Given the description of an element on the screen output the (x, y) to click on. 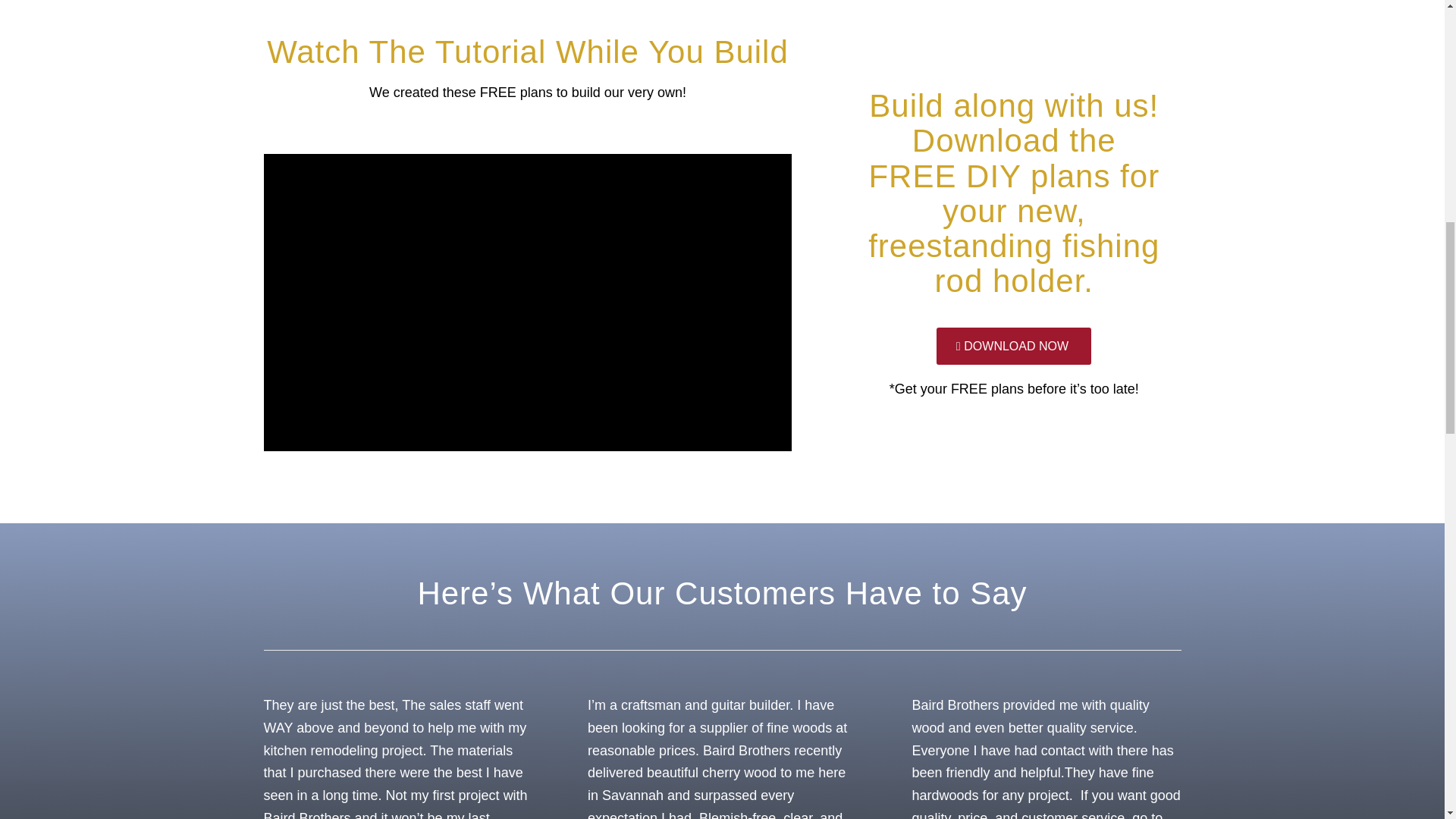
DOWNLOAD NOW (1013, 345)
